Given the description of an element on the screen output the (x, y) to click on. 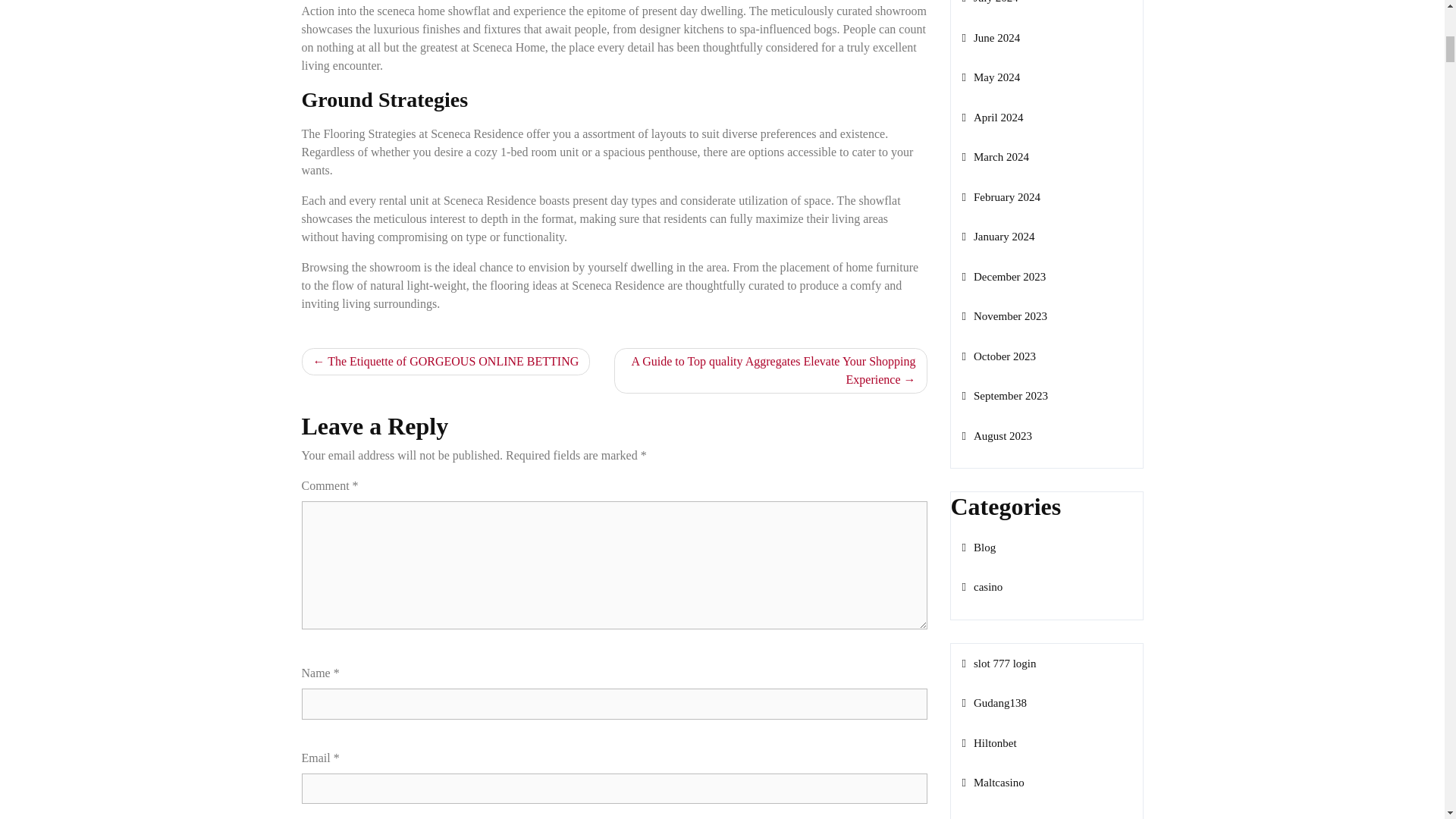
April 2024 (991, 117)
January 2024 (996, 236)
July 2024 (988, 2)
diana4d (984, 817)
casino (981, 586)
Gudang138 (993, 702)
June 2024 (990, 37)
Blog (977, 547)
September 2023 (1003, 395)
The Etiquette of GORGEOUS ONLINE BETTING (446, 361)
May 2024 (990, 77)
October 2023 (997, 356)
Hiltonbet (988, 743)
December 2023 (1002, 276)
August 2023 (996, 435)
